Given the description of an element on the screen output the (x, y) to click on. 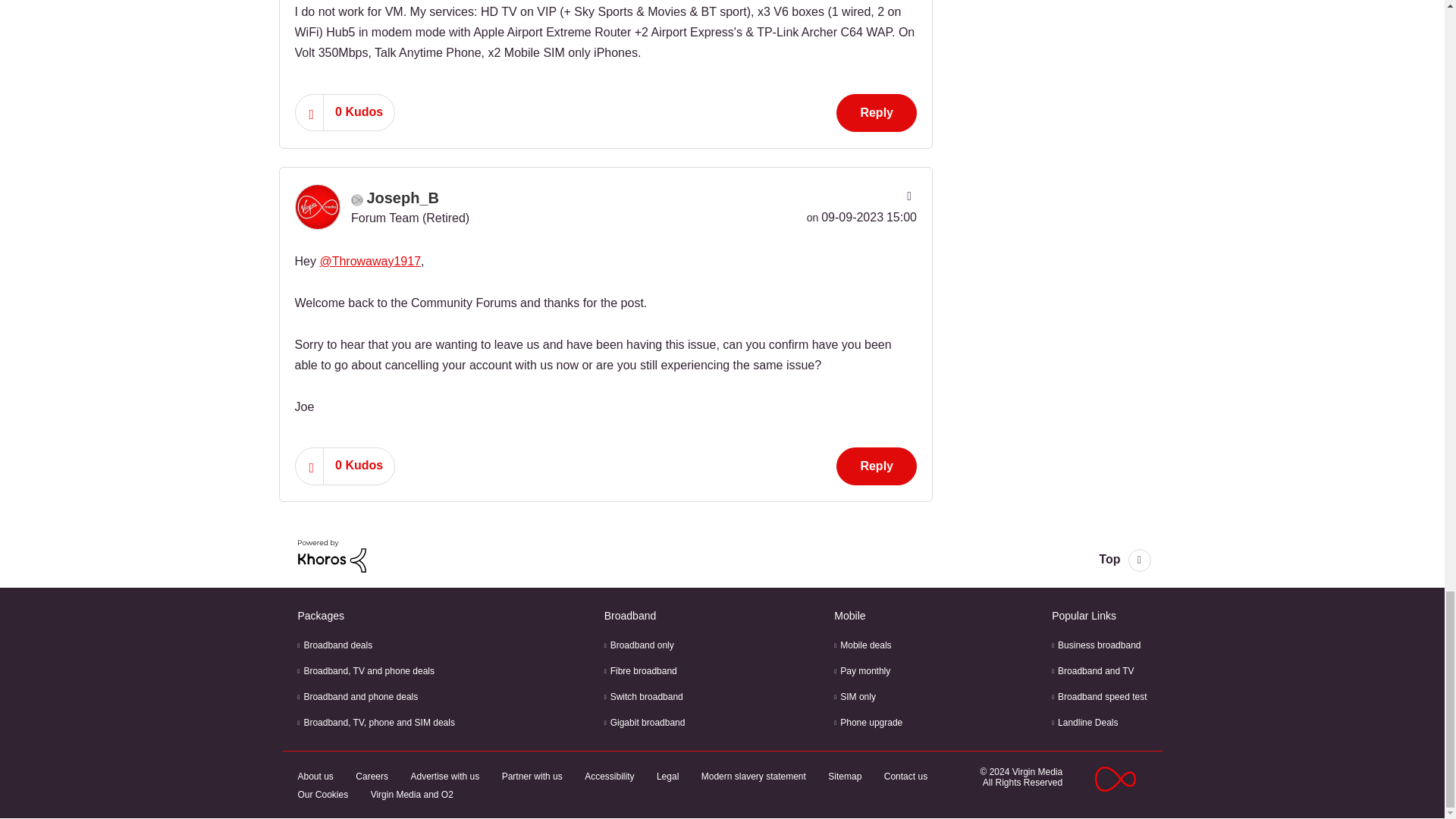
The total number of kudos this post has received. (358, 112)
